Given the description of an element on the screen output the (x, y) to click on. 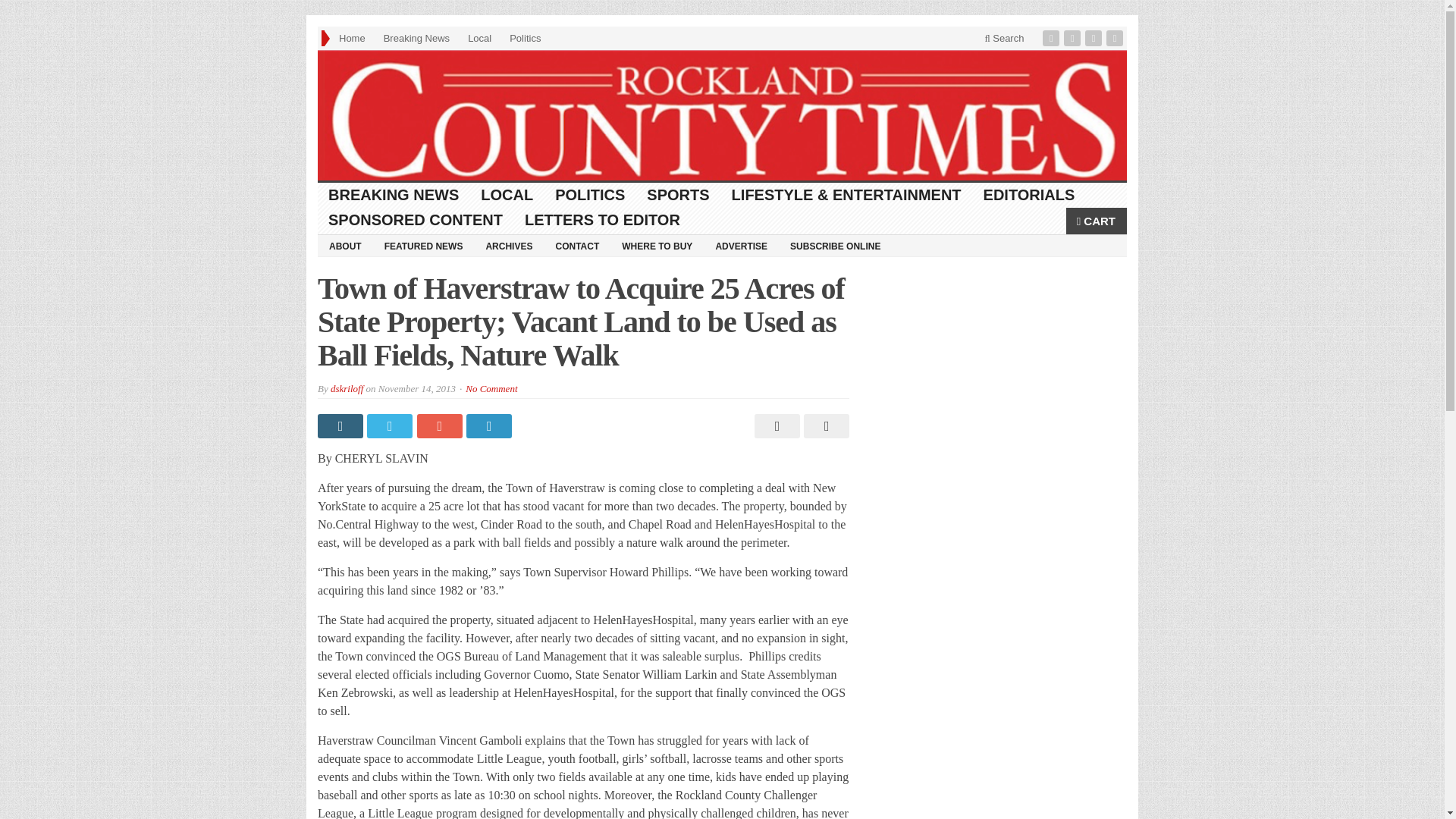
Site feed (1115, 37)
SPORTS (678, 195)
EDITORIALS (1029, 195)
LOCAL (507, 195)
Twitter (1073, 37)
SUBSCRIBE ONLINE (834, 245)
No Comment (490, 388)
dskriloff (346, 388)
Share on LinkedIn (490, 426)
POLITICS (590, 195)
